Given the description of an element on the screen output the (x, y) to click on. 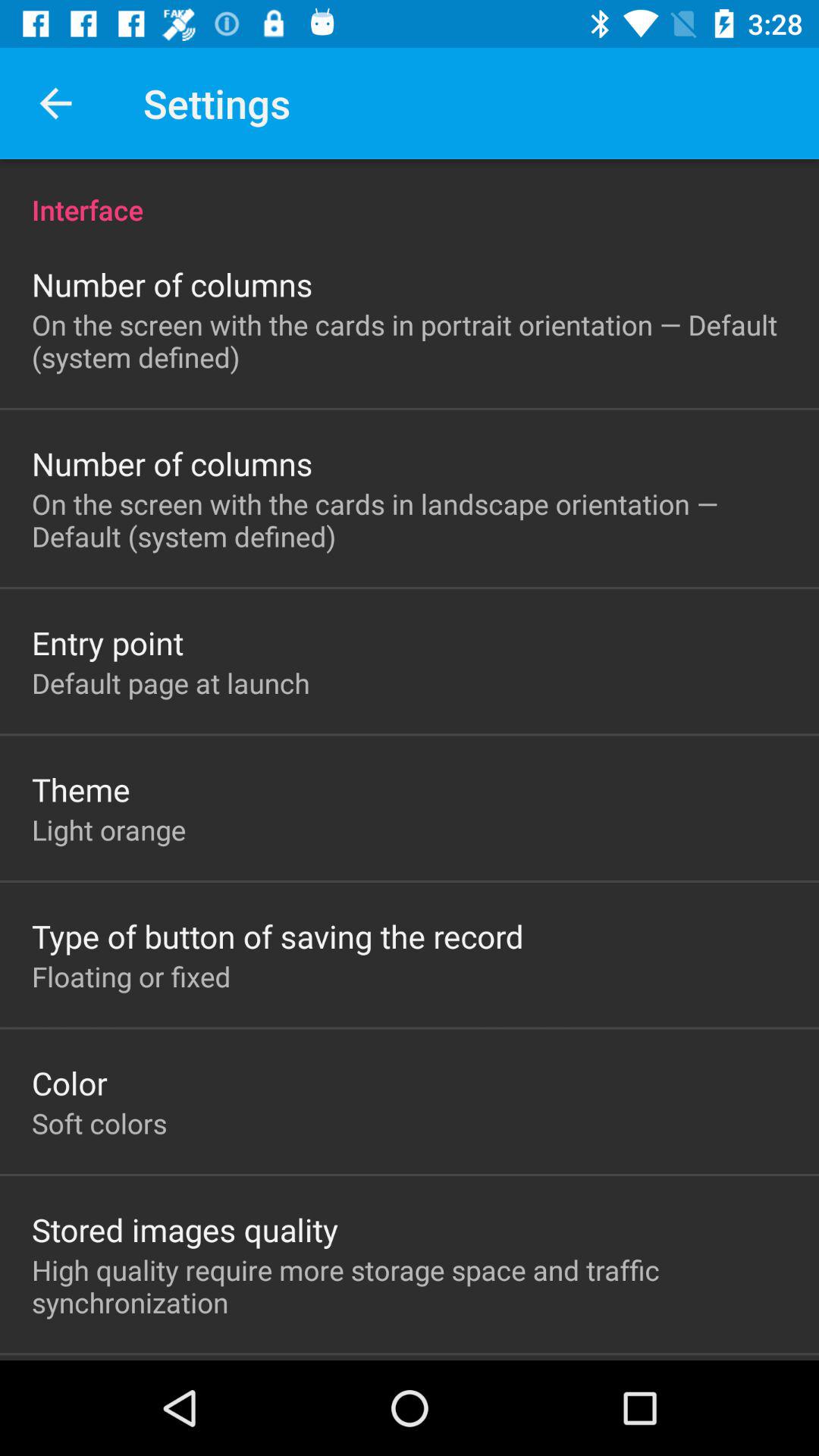
tap the icon below floating or fixed (69, 1082)
